Given the description of an element on the screen output the (x, y) to click on. 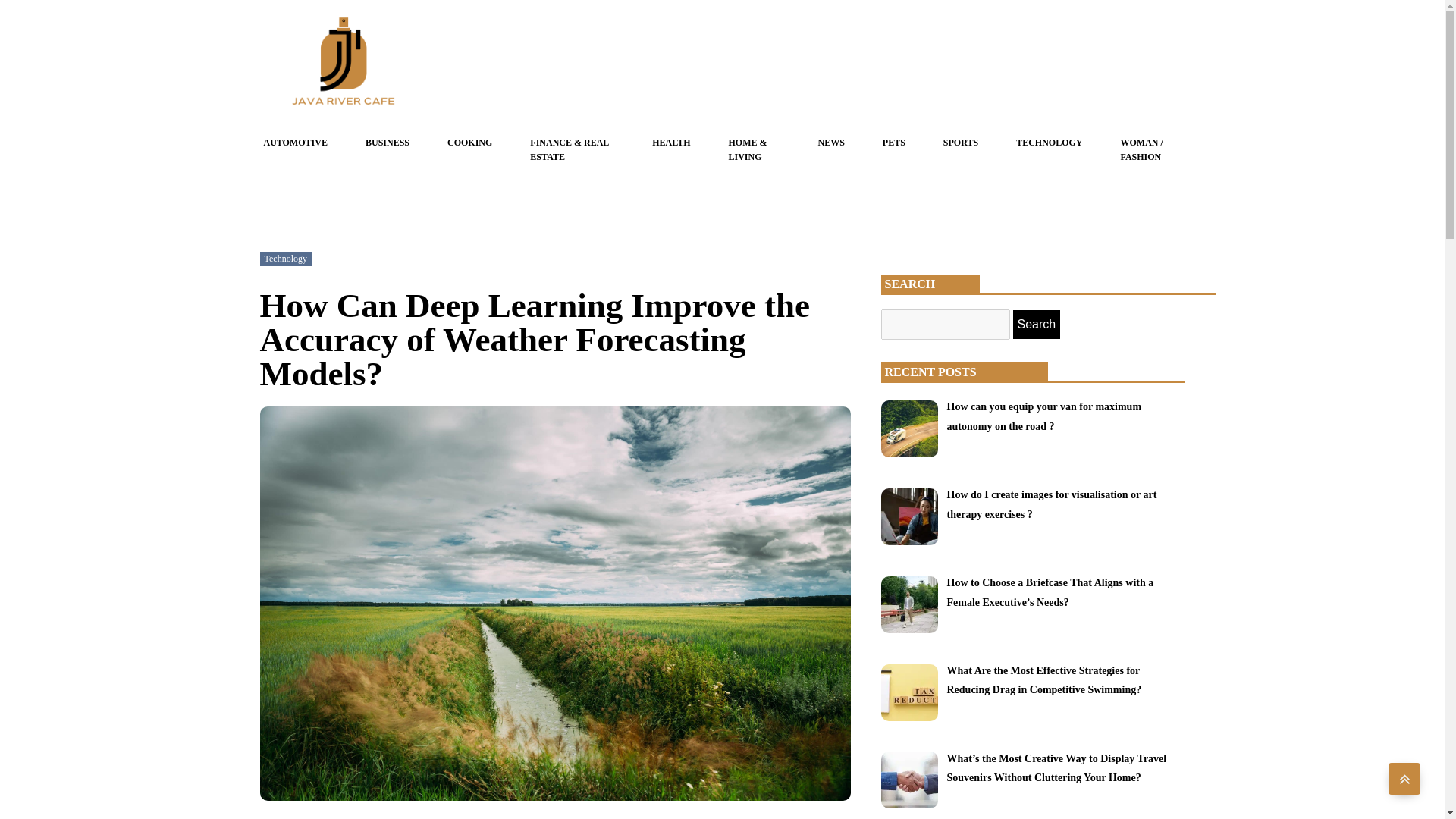
BUSINESS (387, 142)
TECHNOLOGY (1048, 142)
COOKING (469, 142)
Technology (284, 258)
Search (1037, 324)
PETS (893, 142)
HEALTH (671, 142)
Search (1037, 324)
AUTOMOTIVE (295, 142)
NEWS (831, 142)
SPORTS (960, 142)
